Given the description of an element on the screen output the (x, y) to click on. 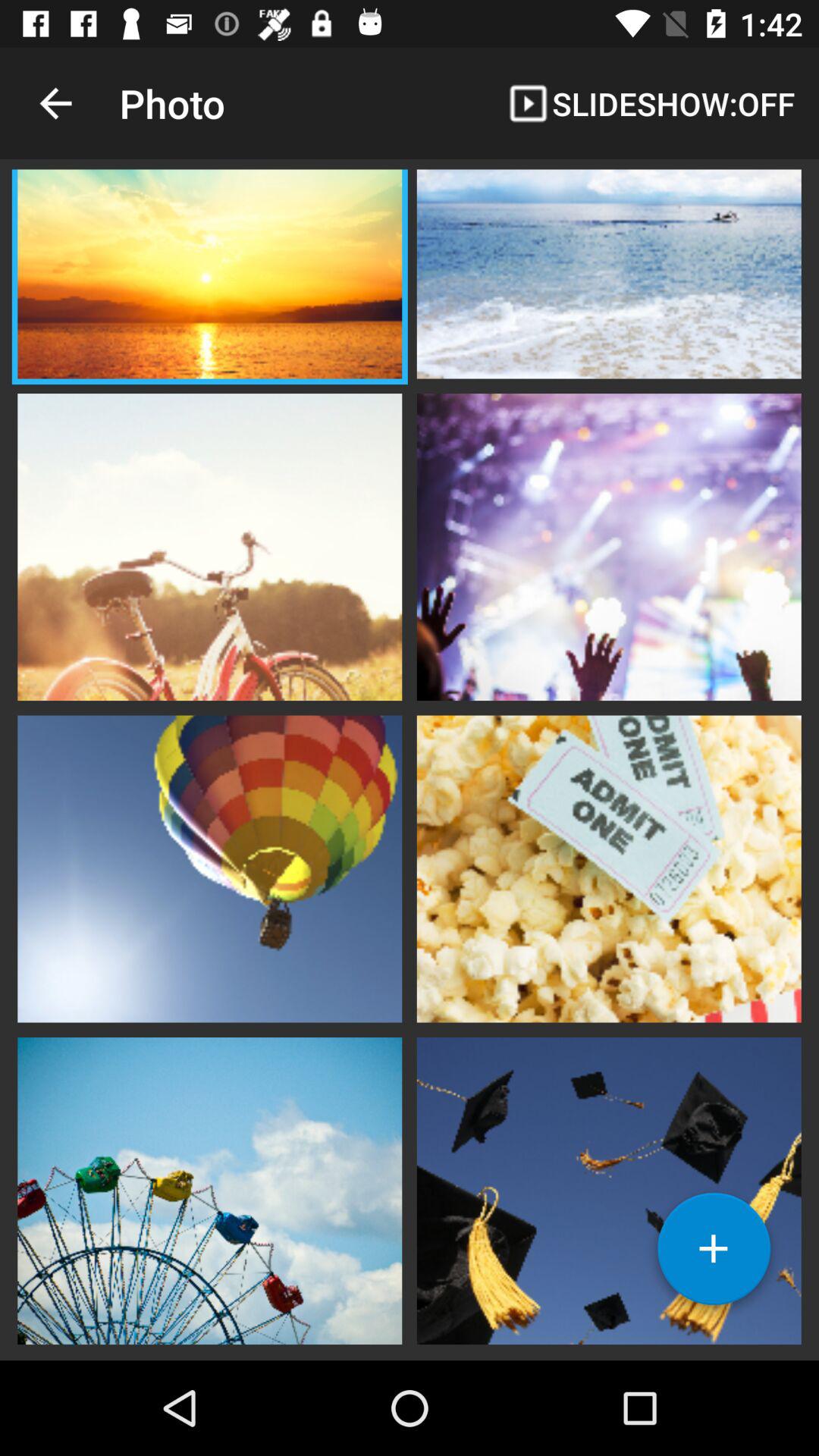
select concert/event photo (609, 545)
